Given the description of an element on the screen output the (x, y) to click on. 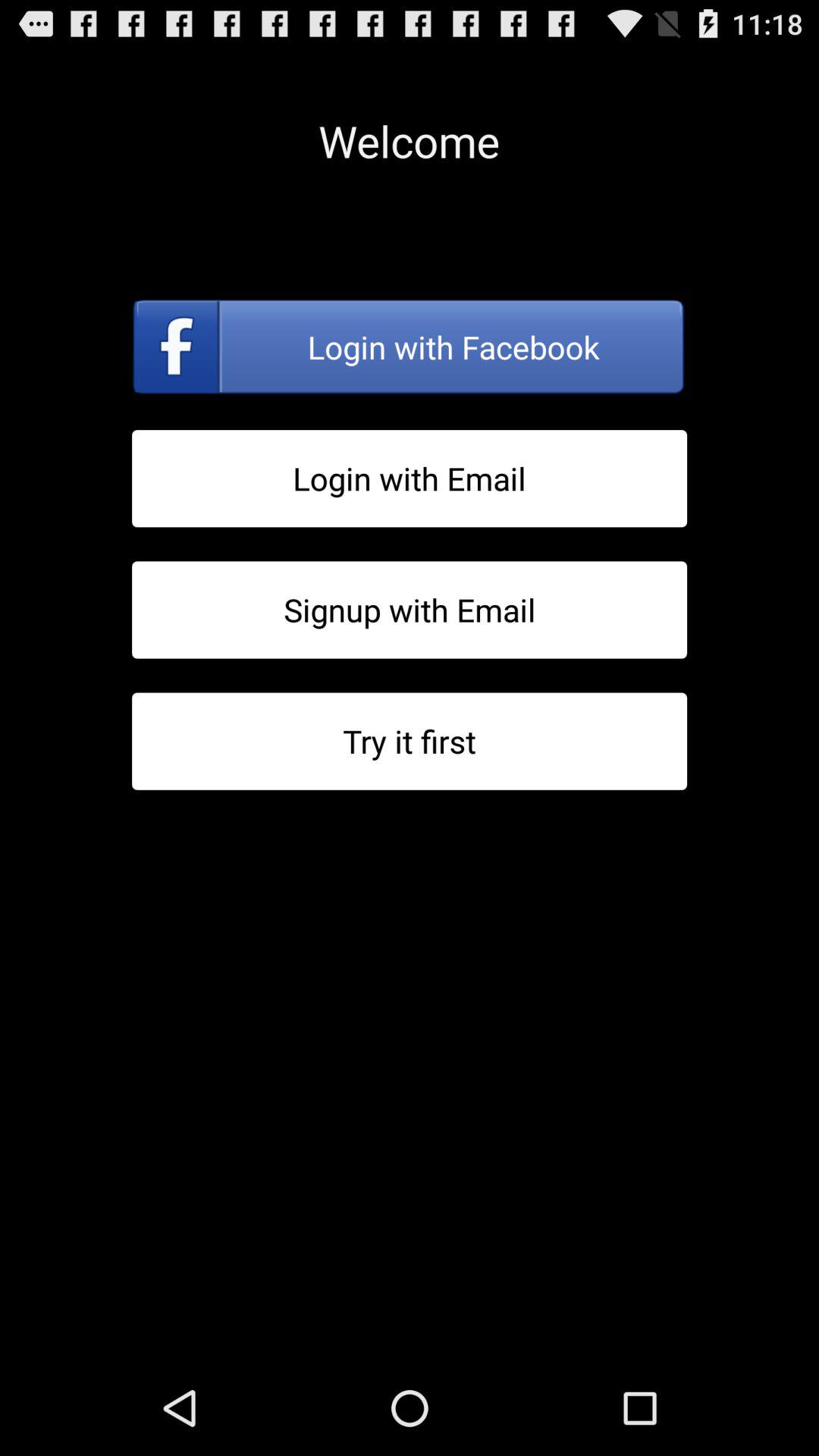
login with email (409, 478)
